Given the description of an element on the screen output the (x, y) to click on. 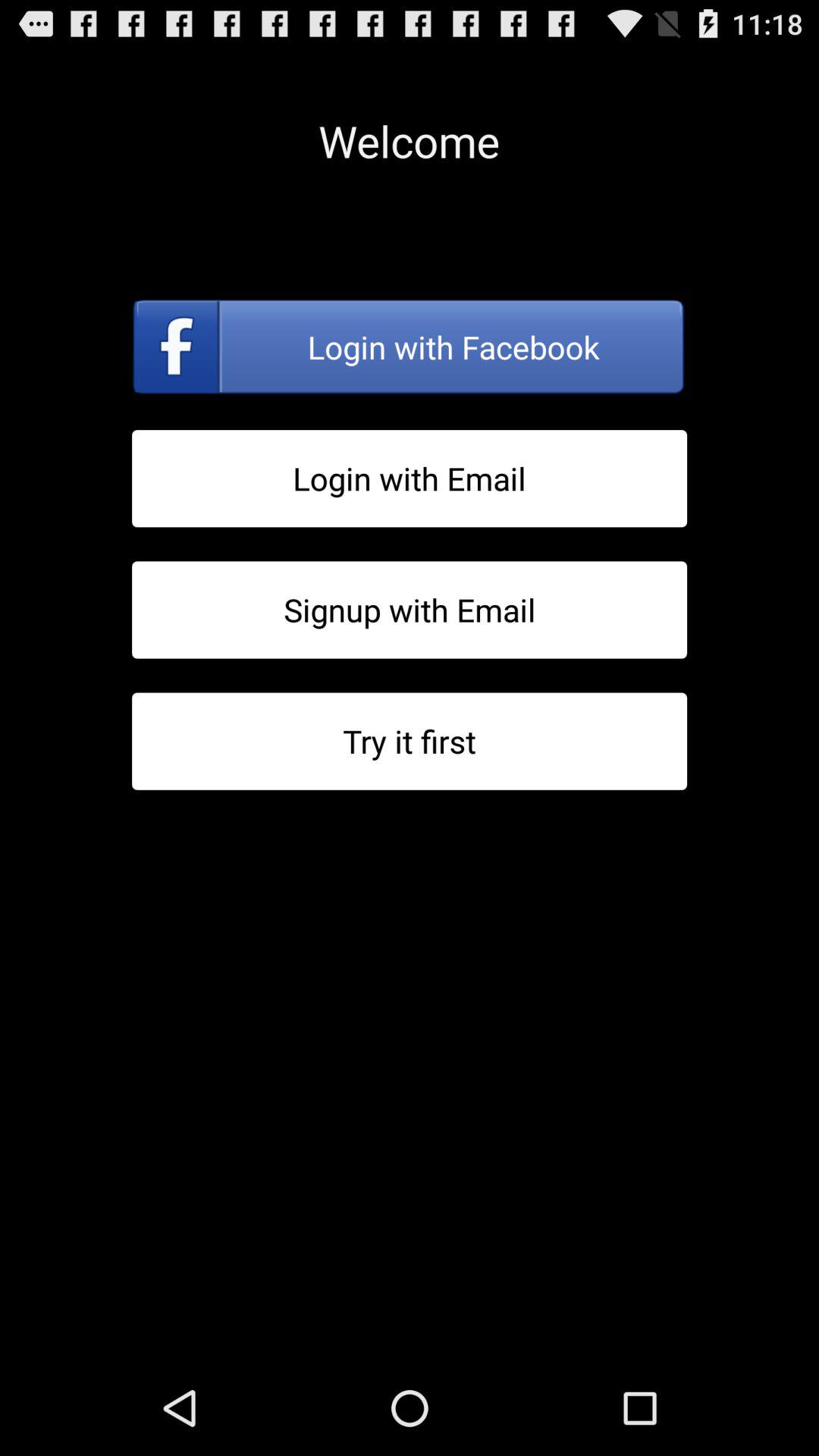
login with email (409, 478)
